Given the description of an element on the screen output the (x, y) to click on. 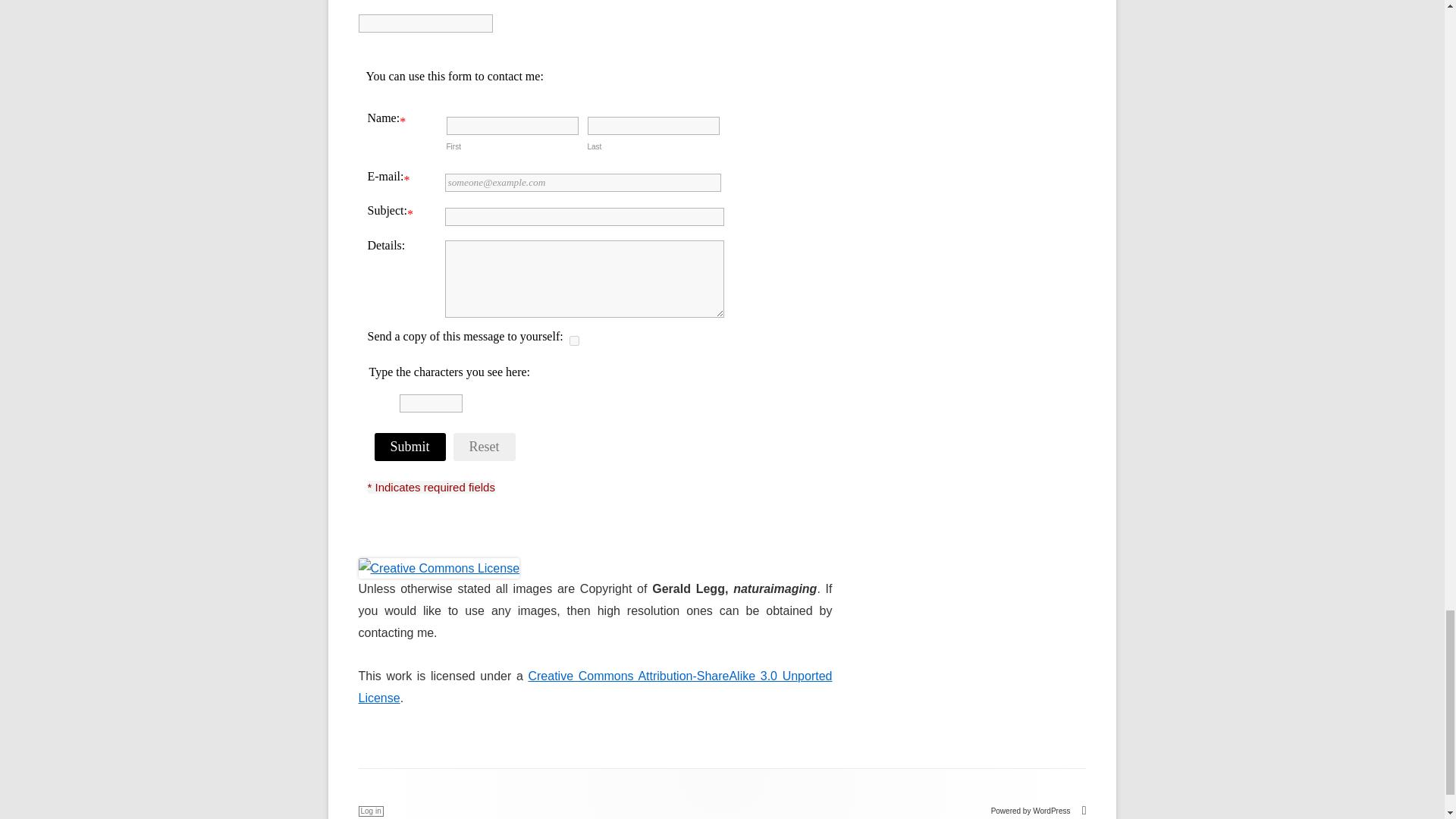
Semantic Personal Publishing Platform (1038, 810)
on (573, 340)
